Given the description of an element on the screen output the (x, y) to click on. 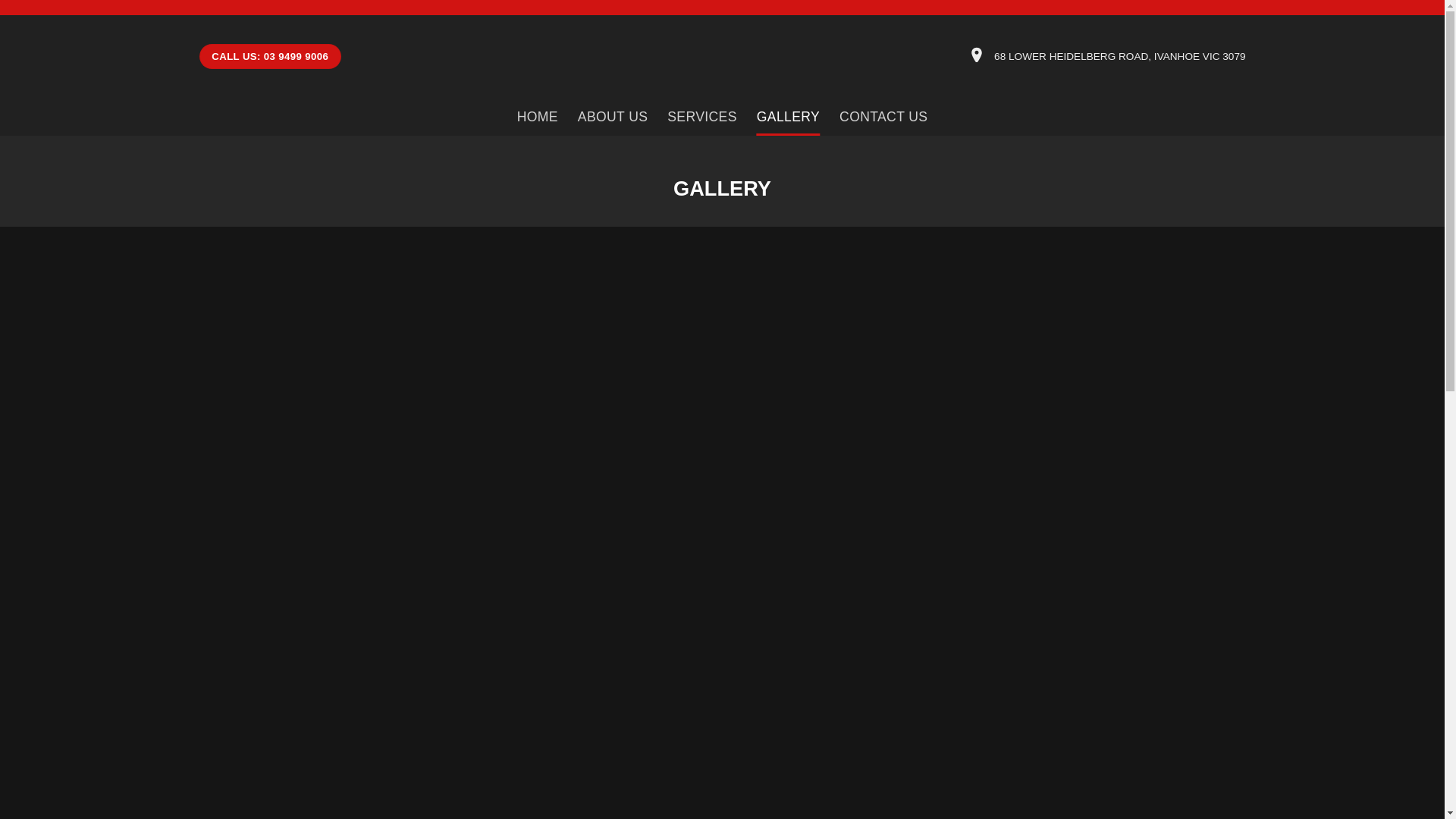
CALL US: 03 9499 9006 Element type: text (269, 56)
HOME Element type: text (537, 116)
ABOUT US Element type: text (612, 116)
SERVICES Element type: text (701, 116)
68 LOWER HEIDELBERG ROAD, IVANHOE VIC 3079 Element type: text (1119, 56)
Skip to content Element type: text (0, 0)
Ivanhoe Service Centre Element type: hover (722, 56)
GALLERY Element type: text (787, 116)
CONTACT US Element type: text (883, 116)
